Given the description of an element on the screen output the (x, y) to click on. 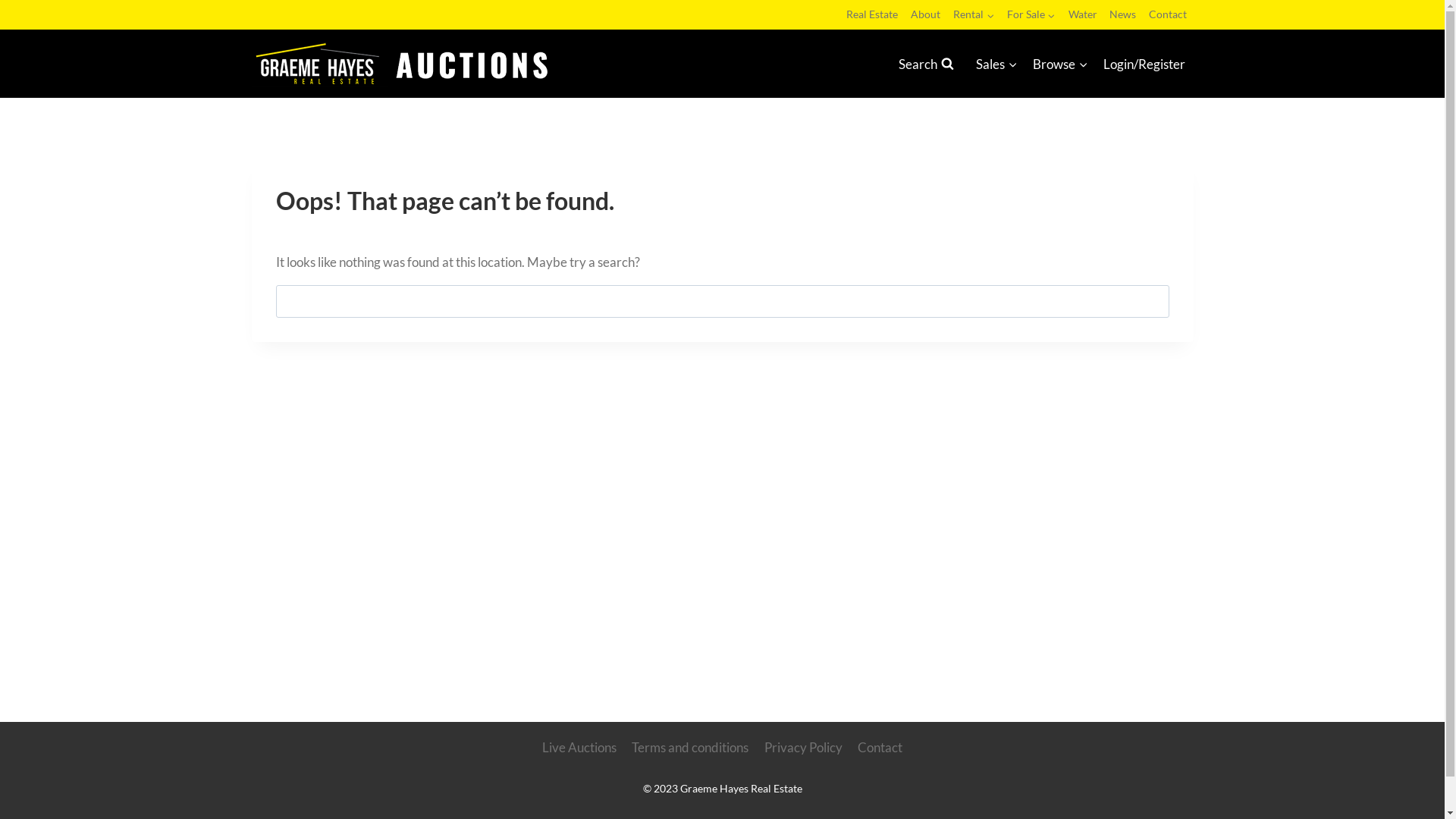
Rental Element type: text (974, 14)
Contact Element type: text (1167, 14)
Search Element type: text (925, 63)
Sales Element type: text (995, 63)
About Element type: text (925, 14)
Contact Element type: text (880, 747)
Login/Register Element type: text (1143, 63)
Real Estate Element type: text (872, 14)
For Sale Element type: text (1030, 14)
Browse Element type: text (1060, 63)
Live Auctions Element type: text (579, 747)
Search Element type: text (1150, 301)
Terms and conditions Element type: text (690, 747)
Water Element type: text (1082, 14)
Privacy Policy Element type: text (802, 747)
News Element type: text (1122, 14)
